Given the description of an element on the screen output the (x, y) to click on. 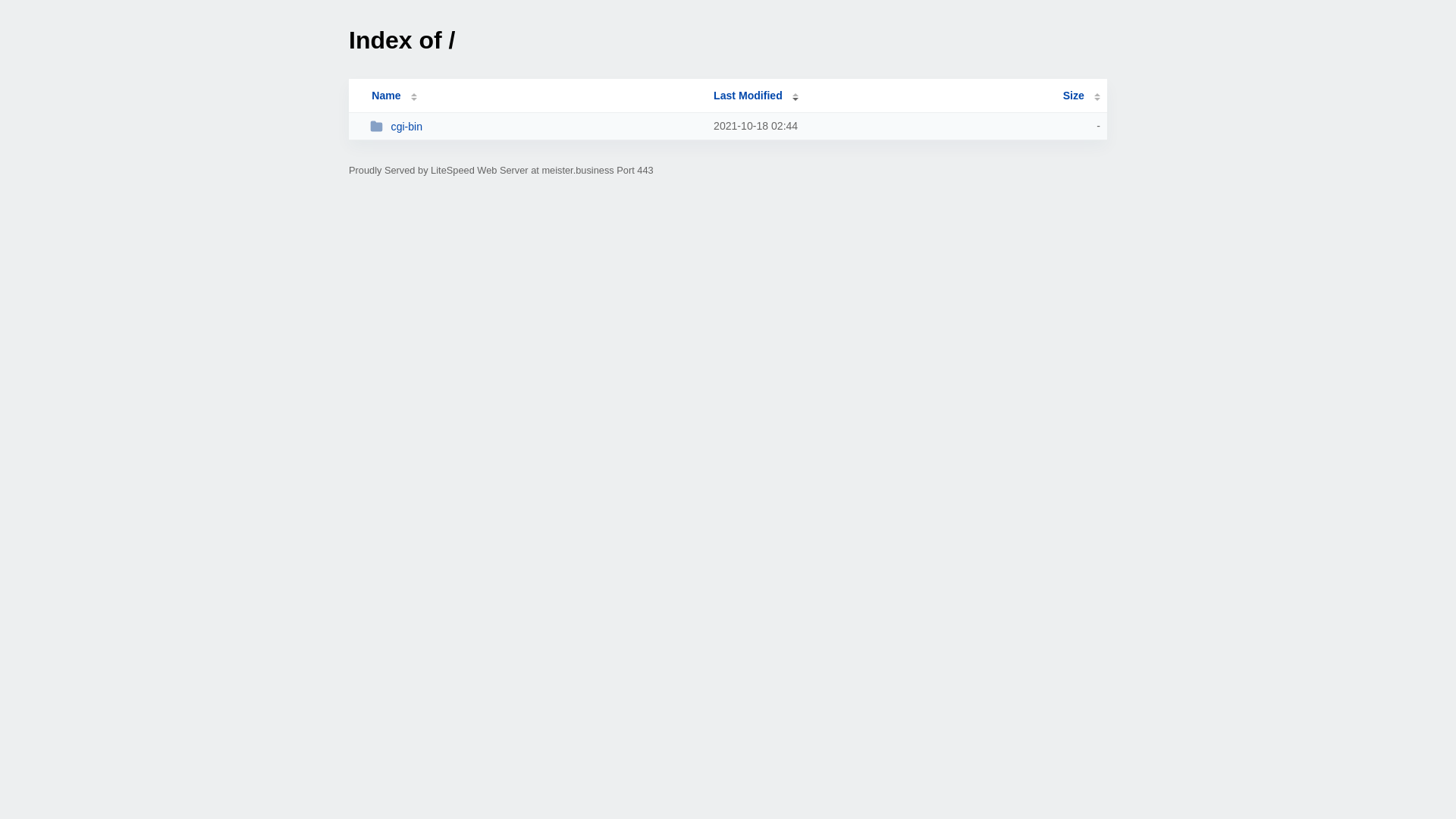
Size Element type: text (1081, 95)
cgi-bin Element type: text (534, 125)
Last Modified Element type: text (755, 95)
Name Element type: text (385, 95)
